Given the description of an element on the screen output the (x, y) to click on. 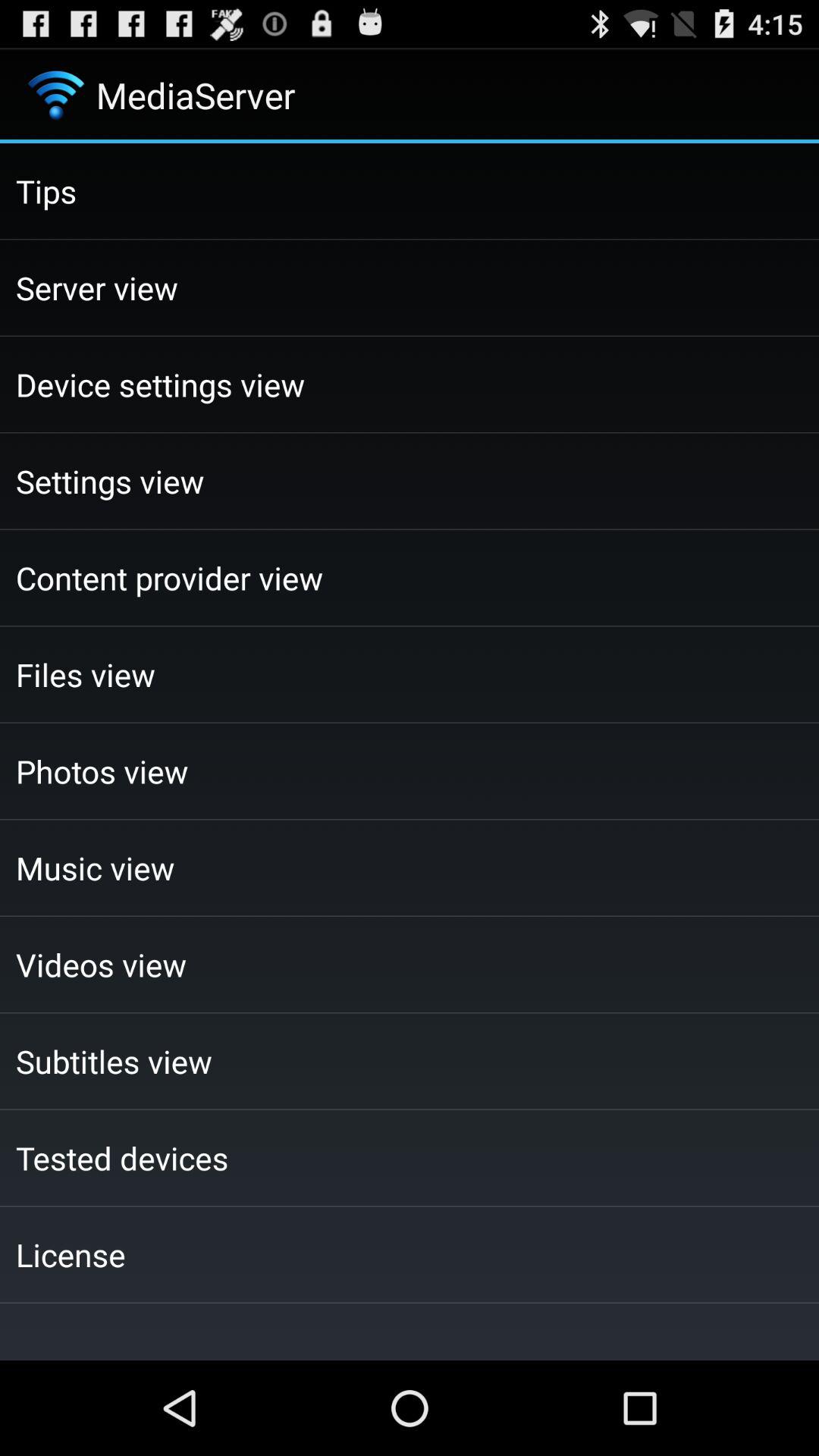
turn off item above license item (409, 1157)
